Given the description of an element on the screen output the (x, y) to click on. 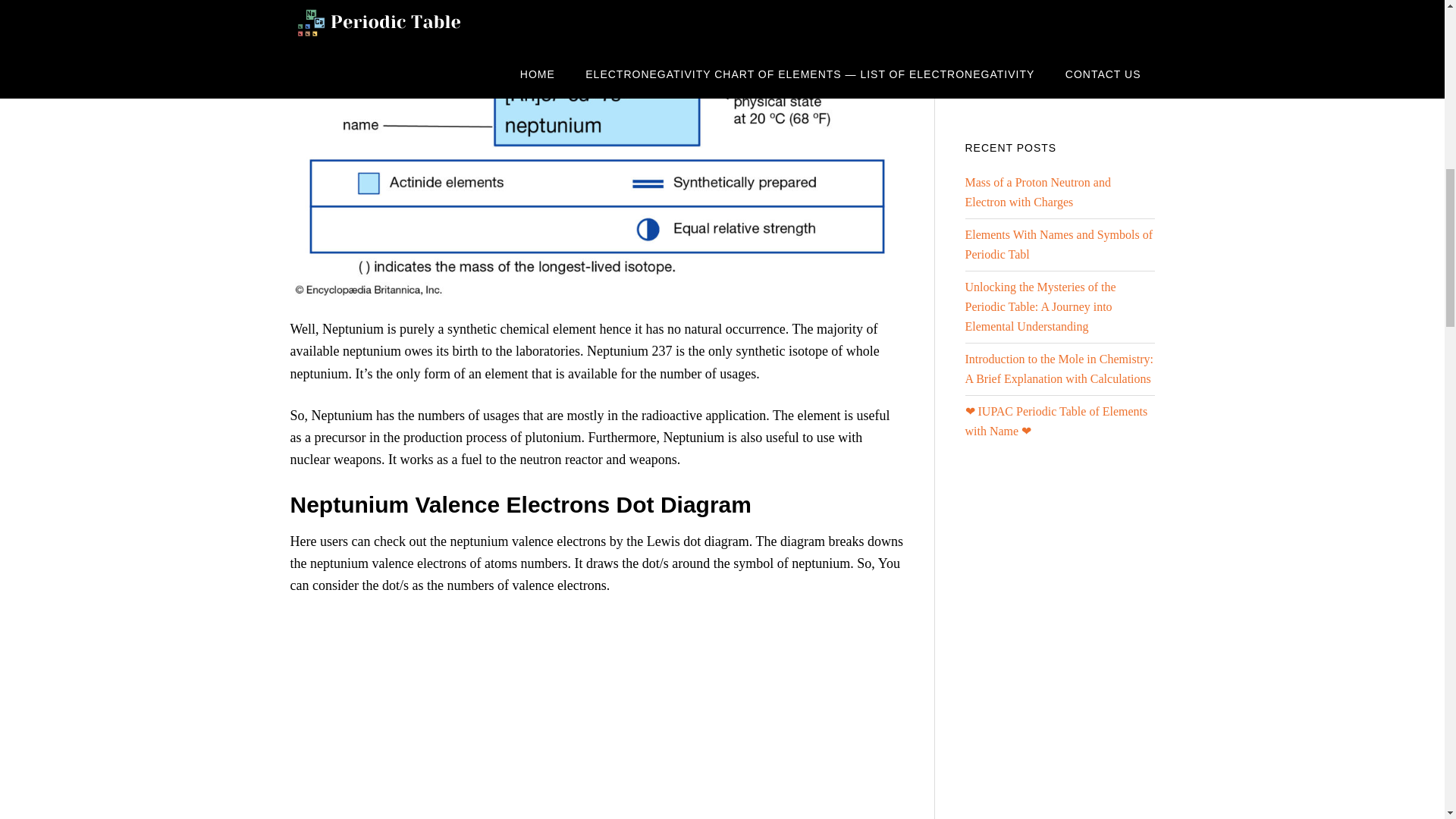
Elements With Names and Symbols of Periodic Tabl (1057, 244)
Mass of a Proton Neutron and Electron with Charges (1036, 192)
